Given the description of an element on the screen output the (x, y) to click on. 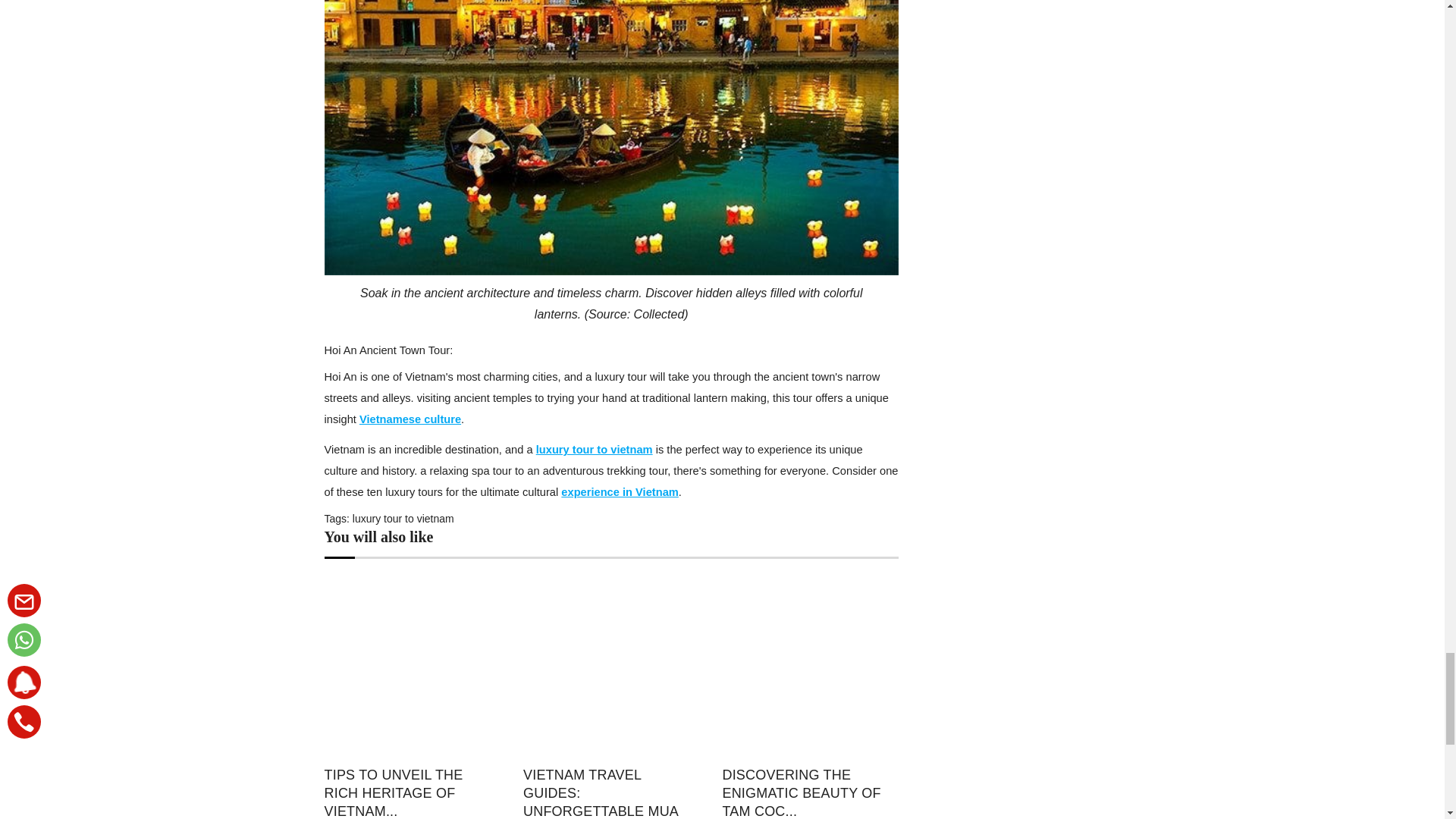
luxury tour to vietnam (403, 518)
